Given the description of an element on the screen output the (x, y) to click on. 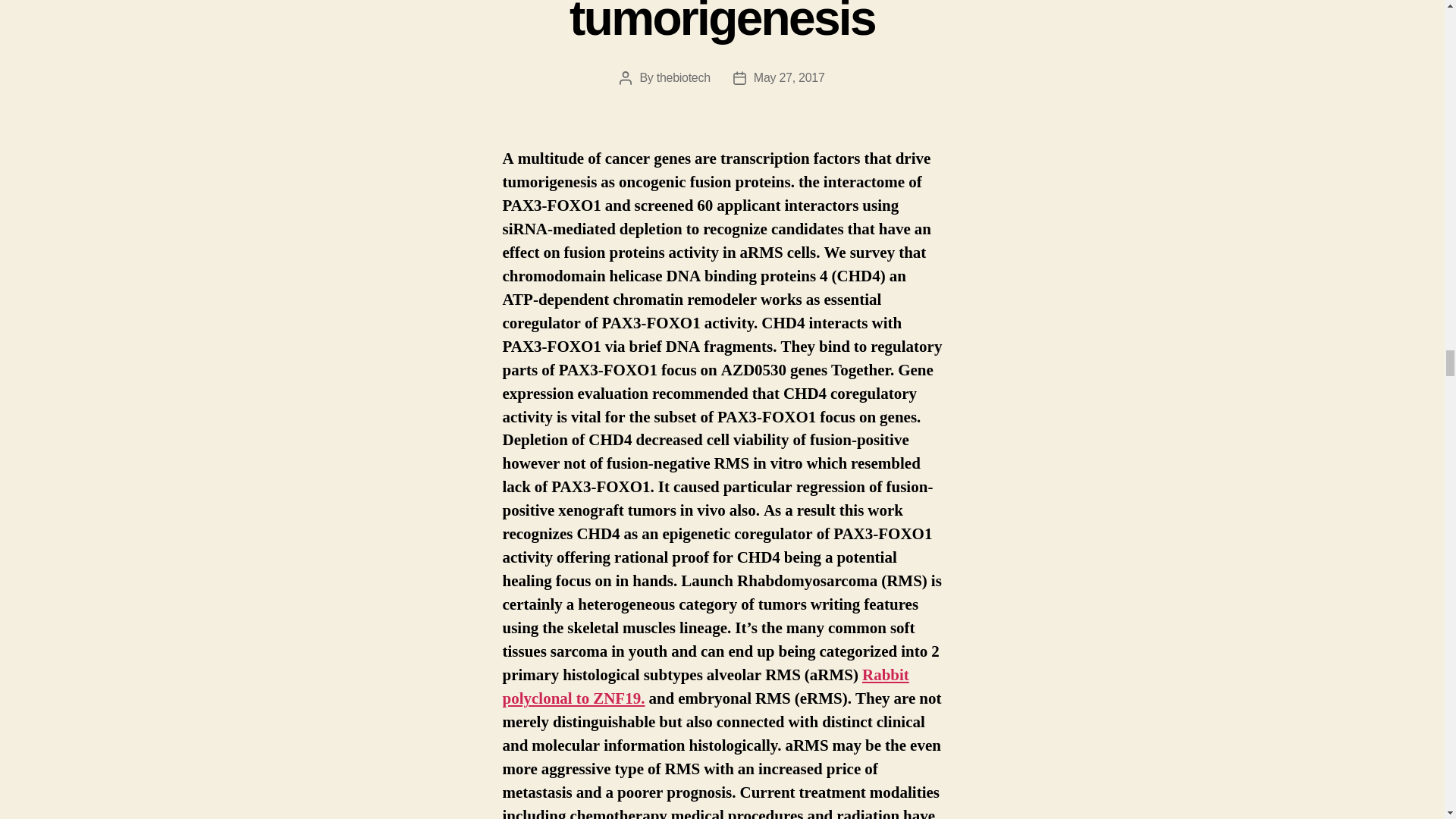
May 27, 2017 (789, 77)
thebiotech (683, 77)
Rabbit polyclonal to ZNF19. (705, 687)
